Given the description of an element on the screen output the (x, y) to click on. 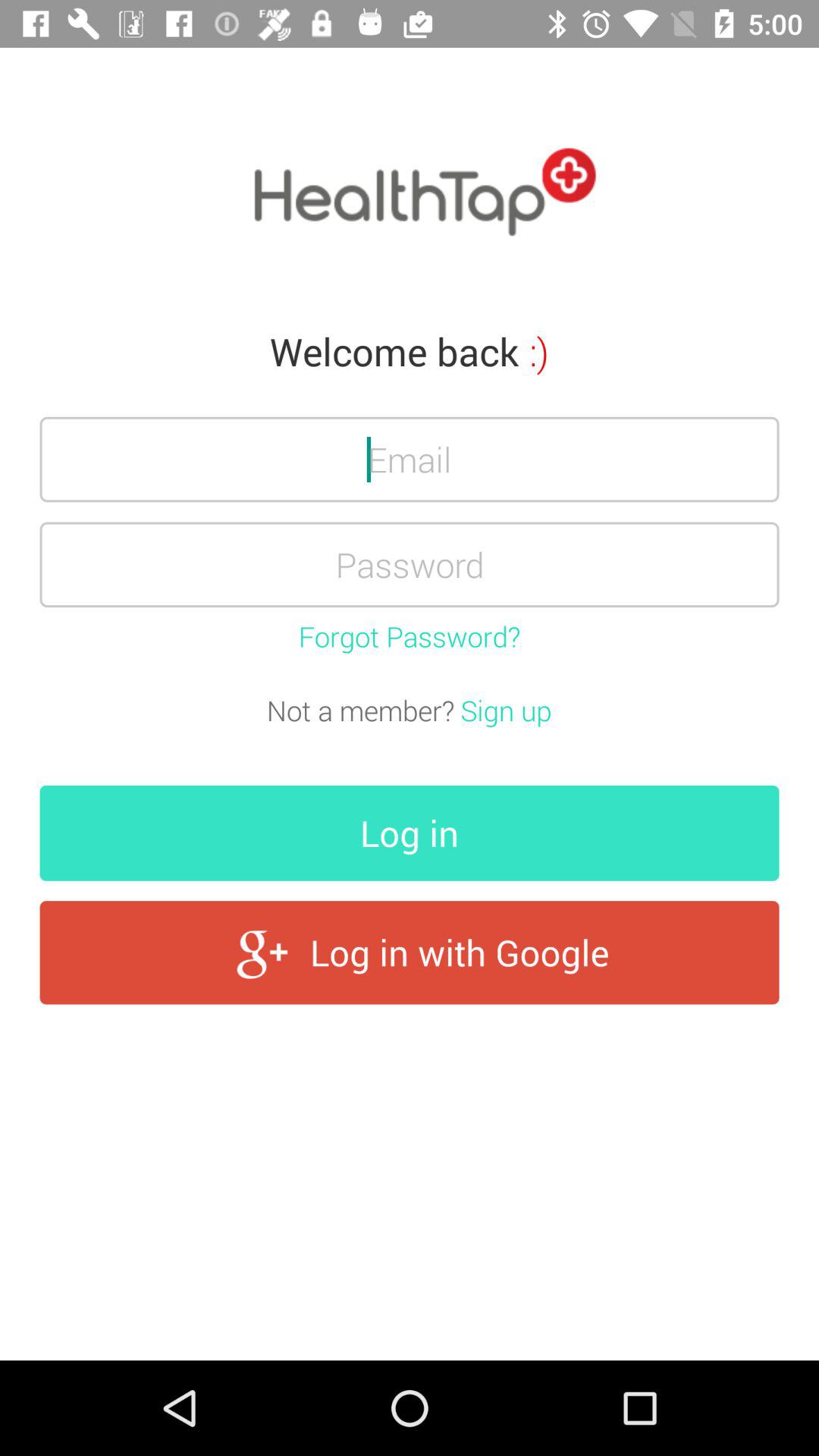
input password (409, 564)
